Given the description of an element on the screen output the (x, y) to click on. 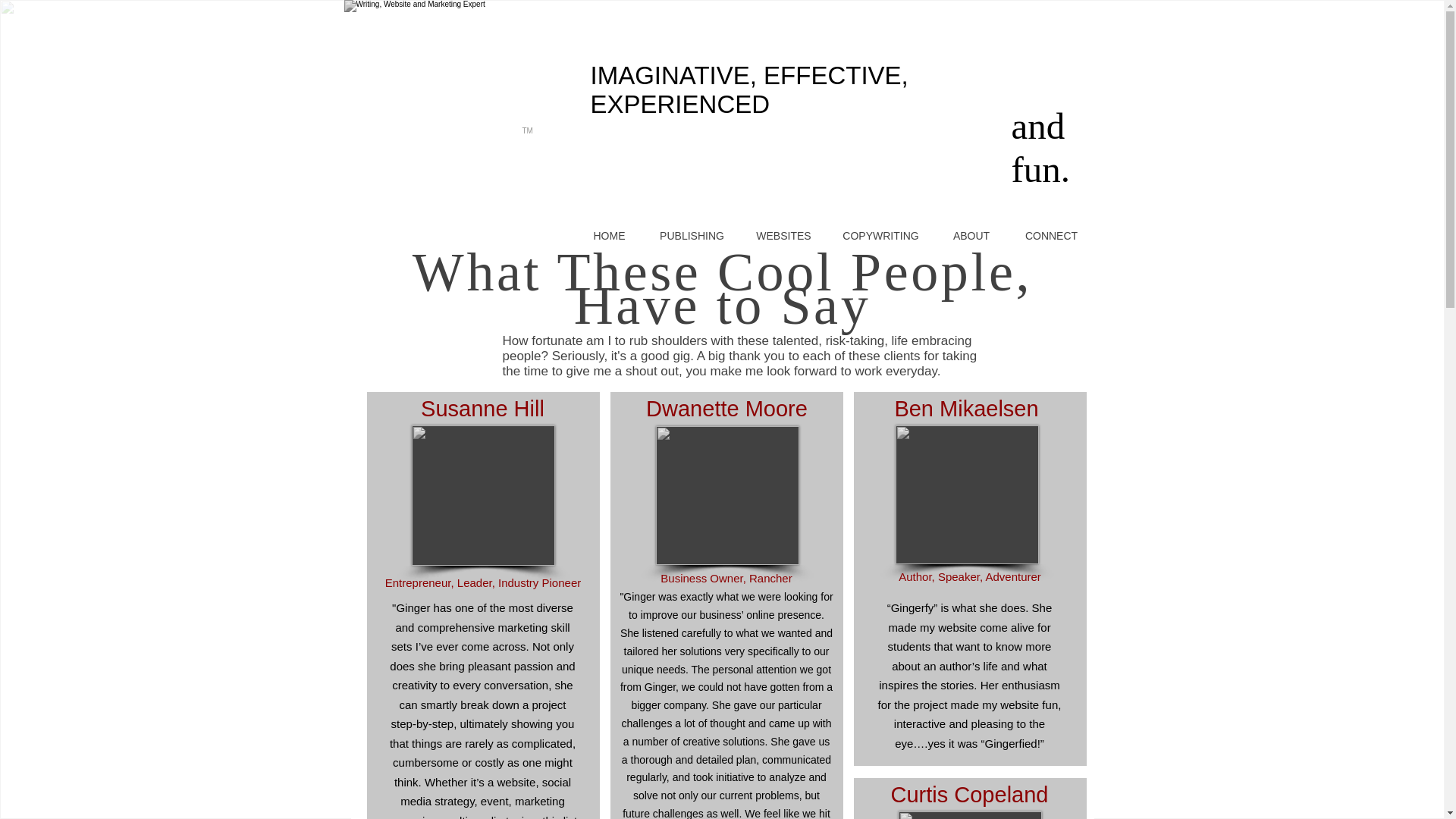
PUBLISHING (691, 235)
WEBSITES (783, 235)
ABOUT (970, 235)
CONNECT (1051, 235)
HOME (609, 235)
COPYWRITING (880, 235)
